Given the description of an element on the screen output the (x, y) to click on. 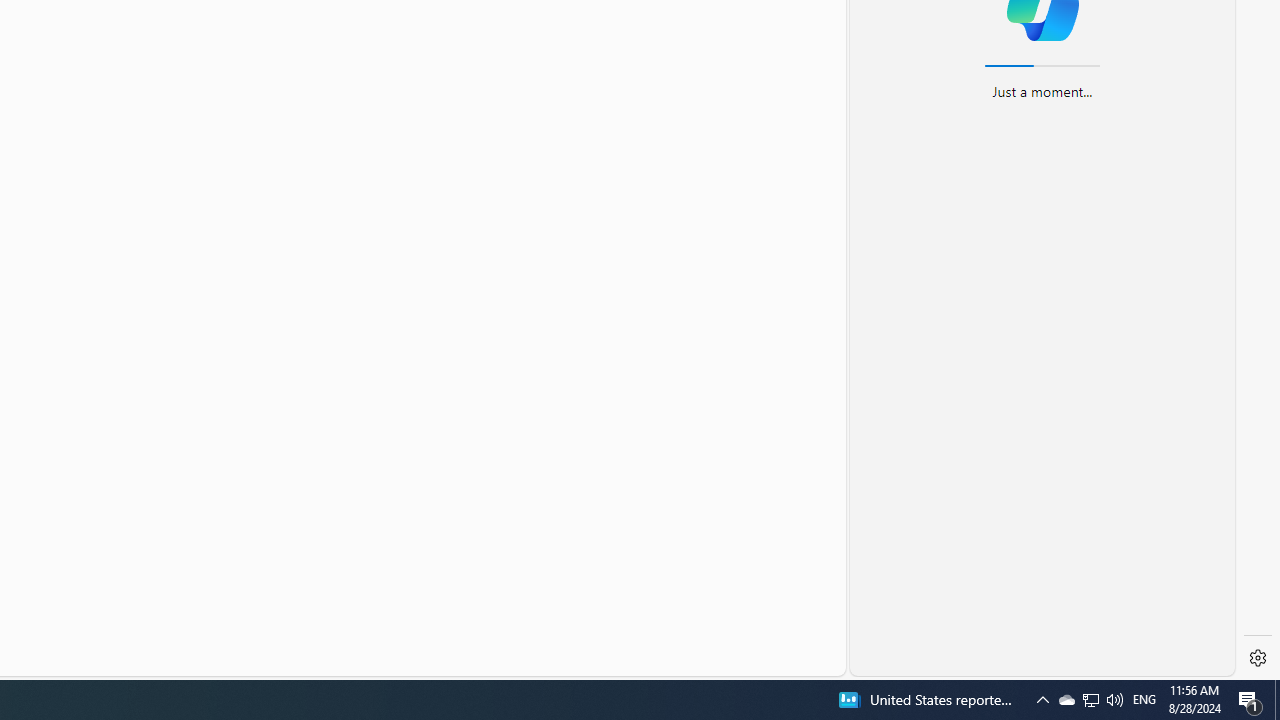
Settings (1258, 658)
